Given the description of an element on the screen output the (x, y) to click on. 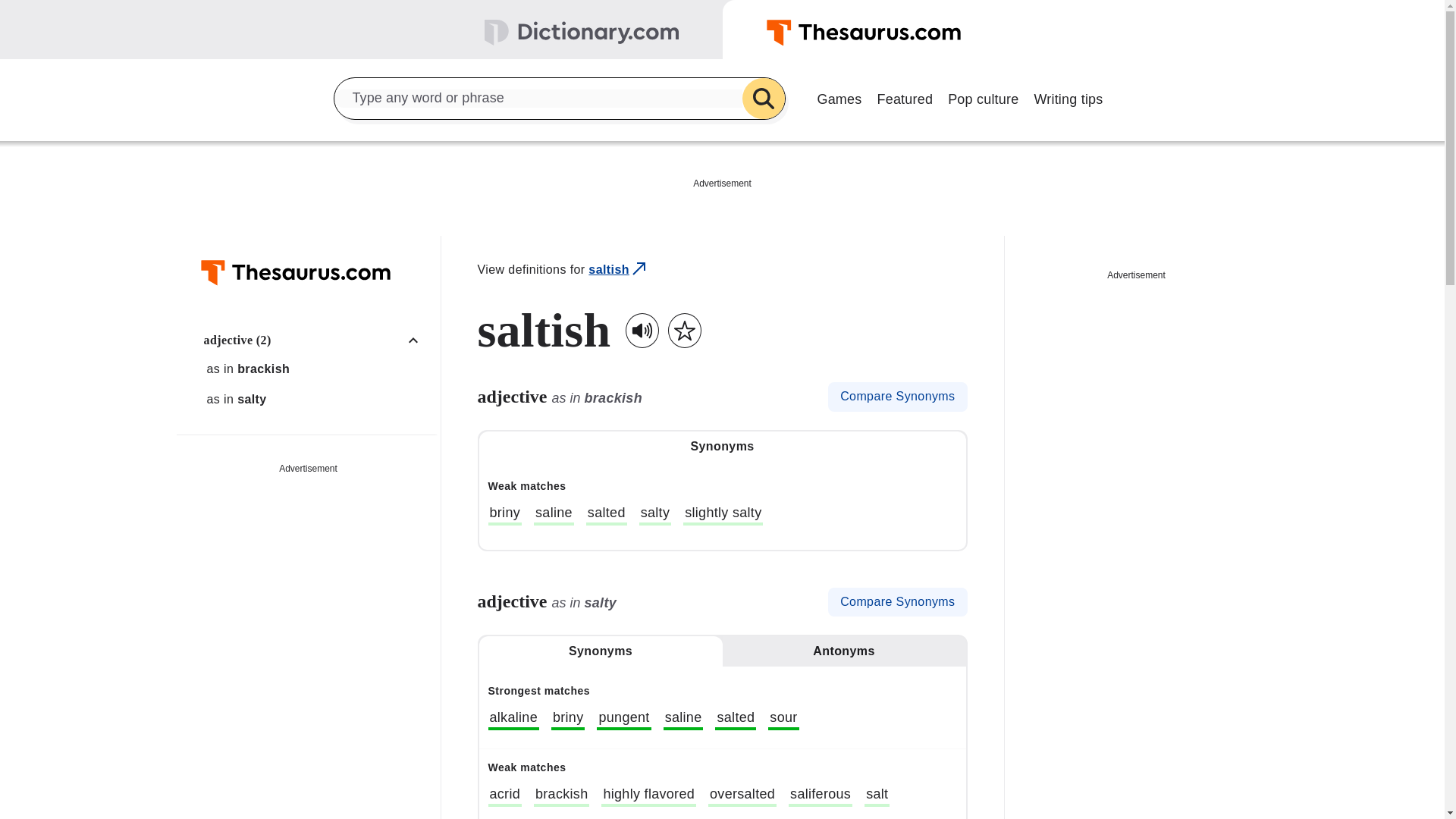
briny (504, 514)
as in salty (316, 399)
Games (839, 97)
Compare Synonyms (897, 396)
as in brackish (316, 369)
saltish (618, 270)
Pop culture (983, 97)
Writing tips (1067, 97)
Synonyms (722, 446)
Featured (904, 97)
